Given the description of an element on the screen output the (x, y) to click on. 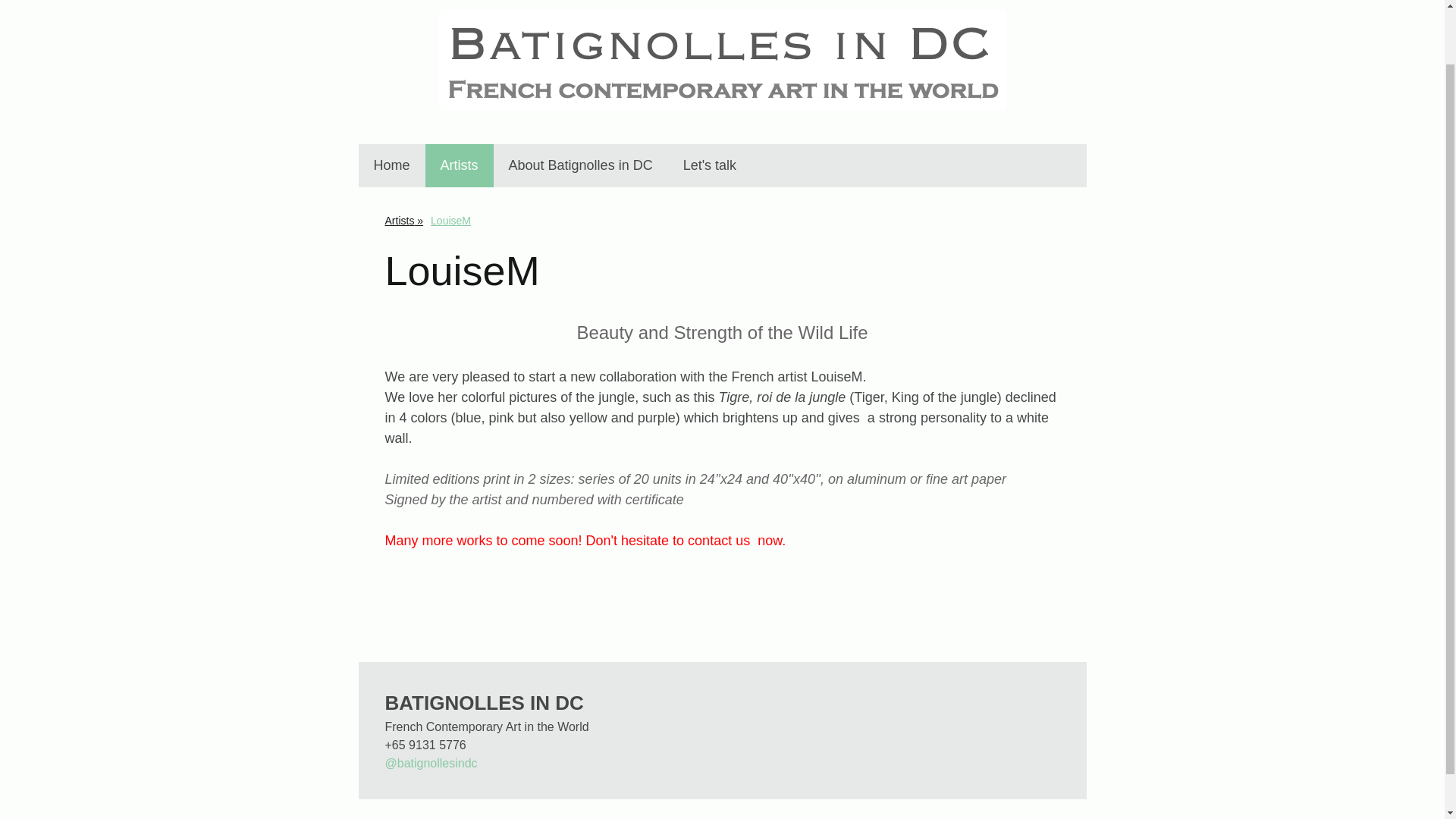
Artists (403, 220)
Let's talk (709, 165)
About Batignolles in DC (580, 165)
Home (391, 165)
Artists (459, 165)
LouiseM (450, 220)
